Given the description of an element on the screen output the (x, y) to click on. 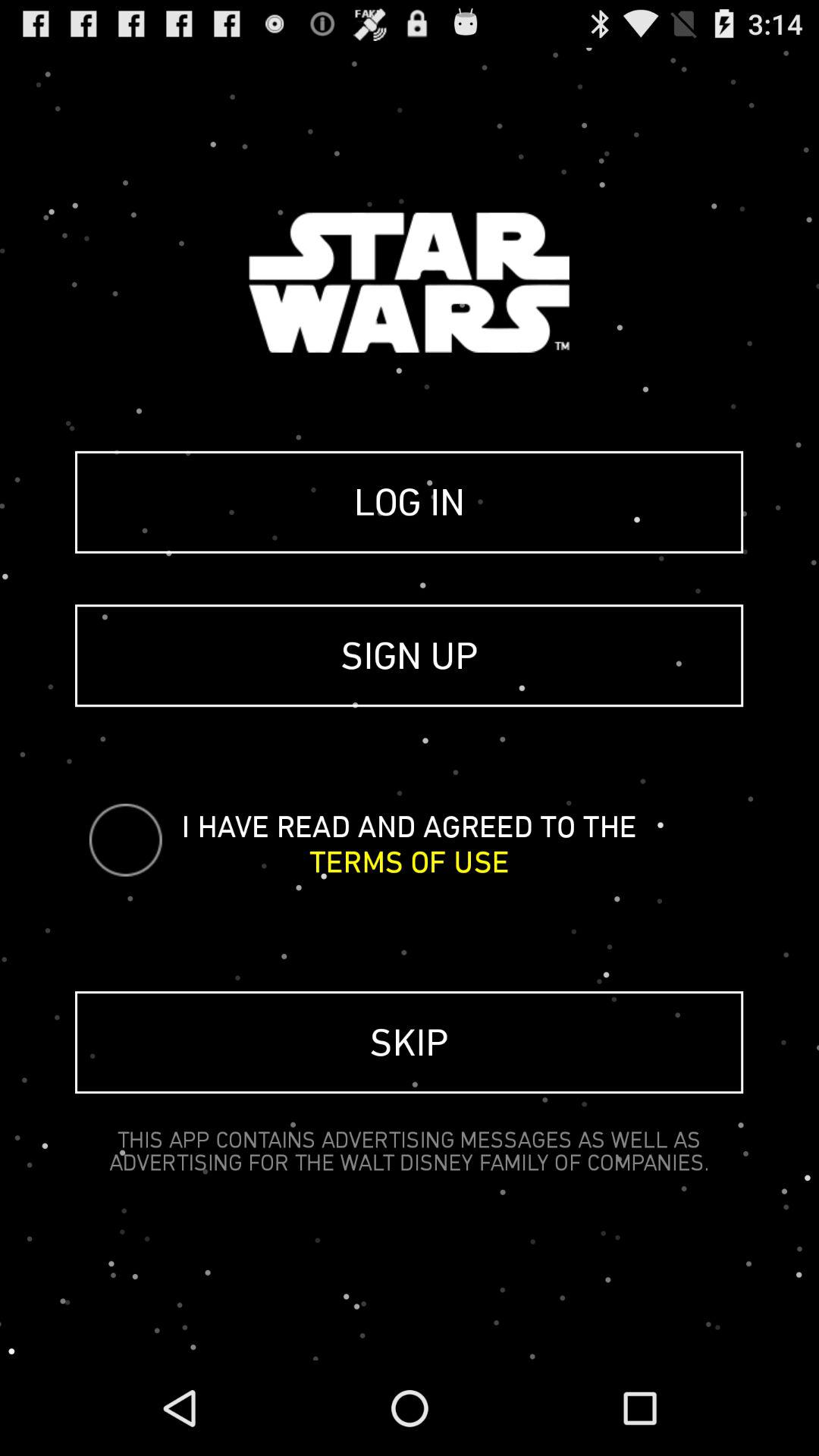
swipe to sign up icon (409, 655)
